Given the description of an element on the screen output the (x, y) to click on. 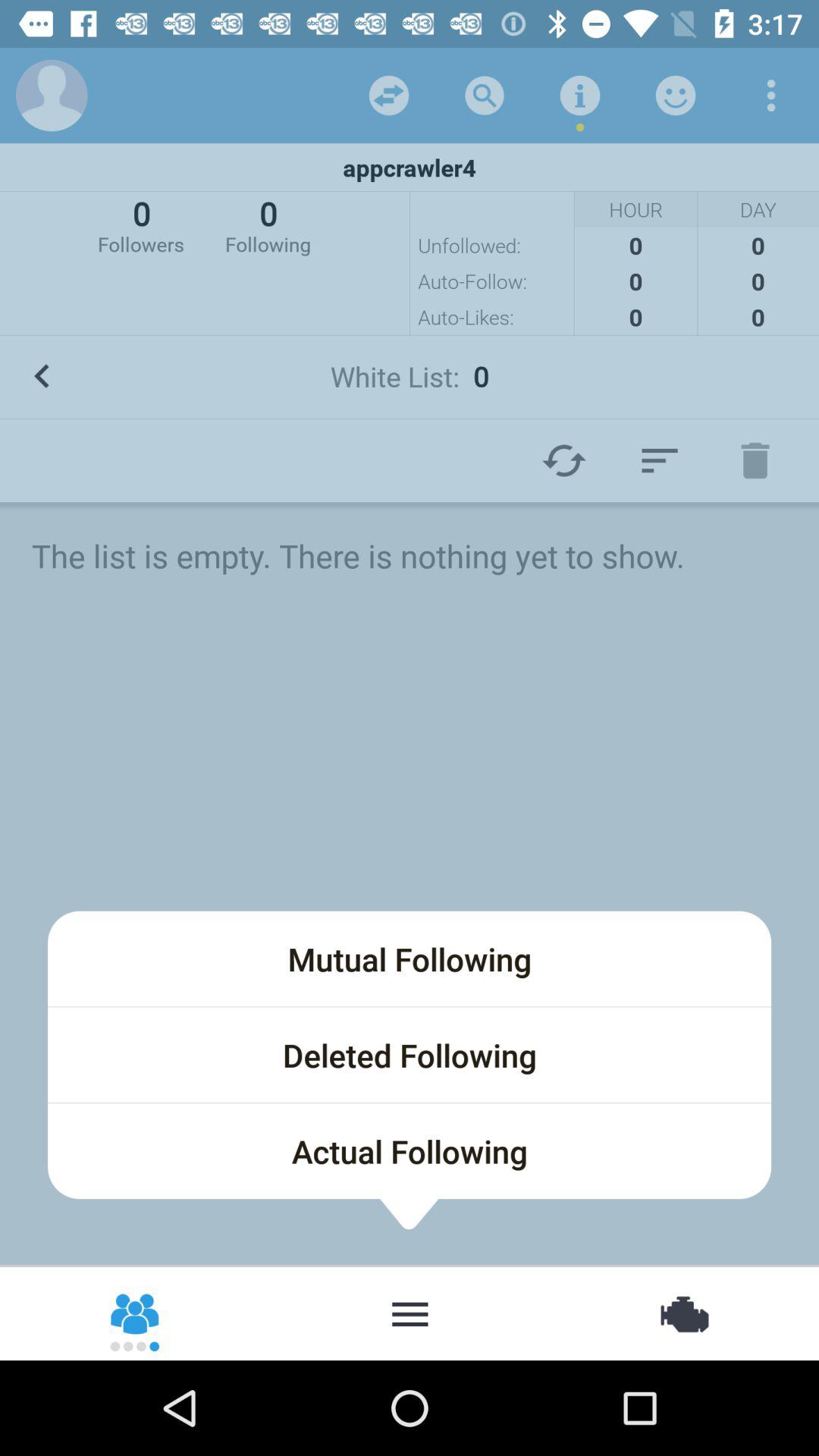
more info (579, 95)
